Given the description of an element on the screen output the (x, y) to click on. 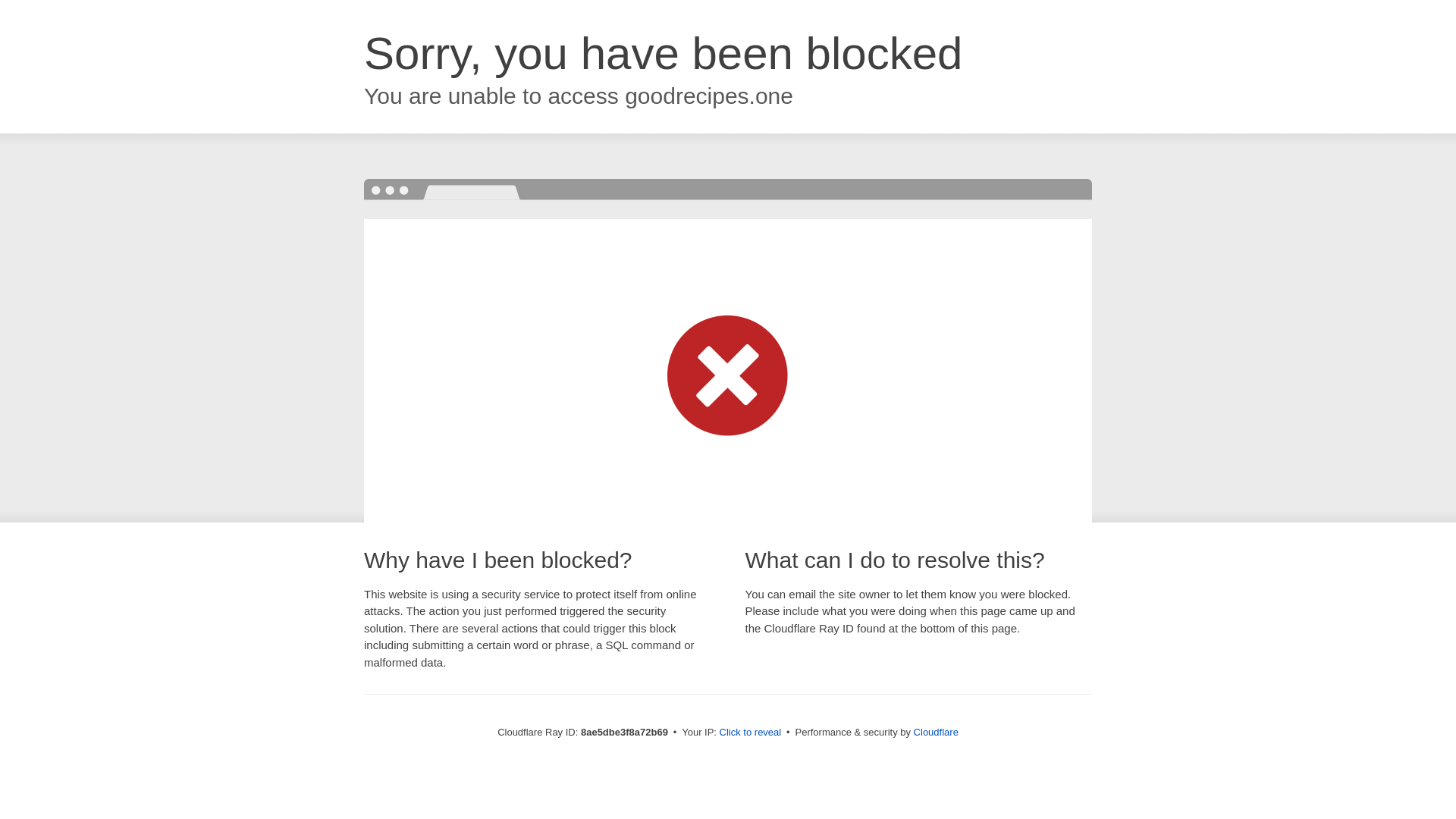
Click to reveal (750, 732)
Cloudflare (936, 731)
